Given the description of an element on the screen output the (x, y) to click on. 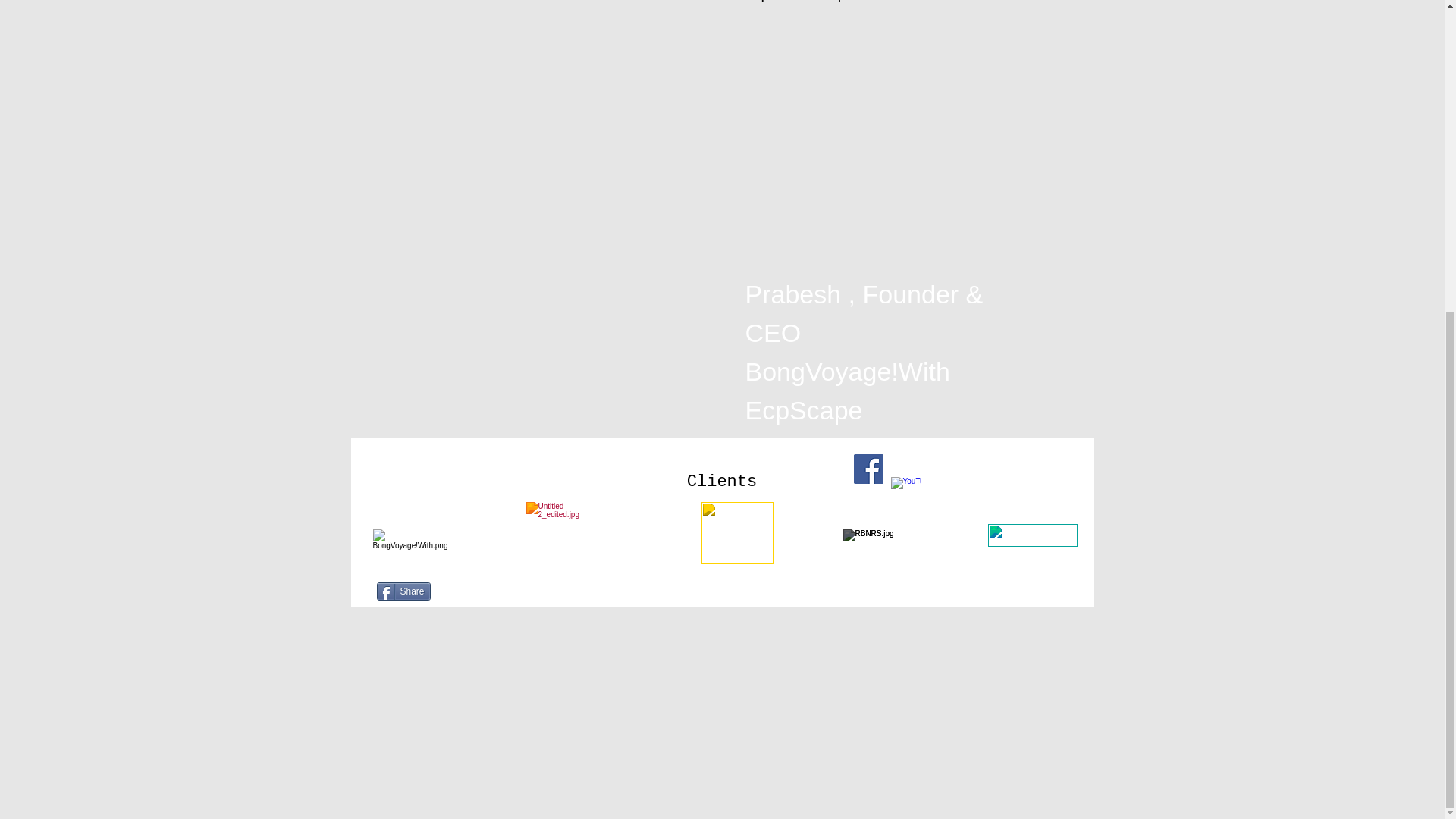
Pin to Pinterest (941, 590)
Share (402, 591)
Facebook Like (455, 468)
Share (402, 591)
